Given the description of an element on the screen output the (x, y) to click on. 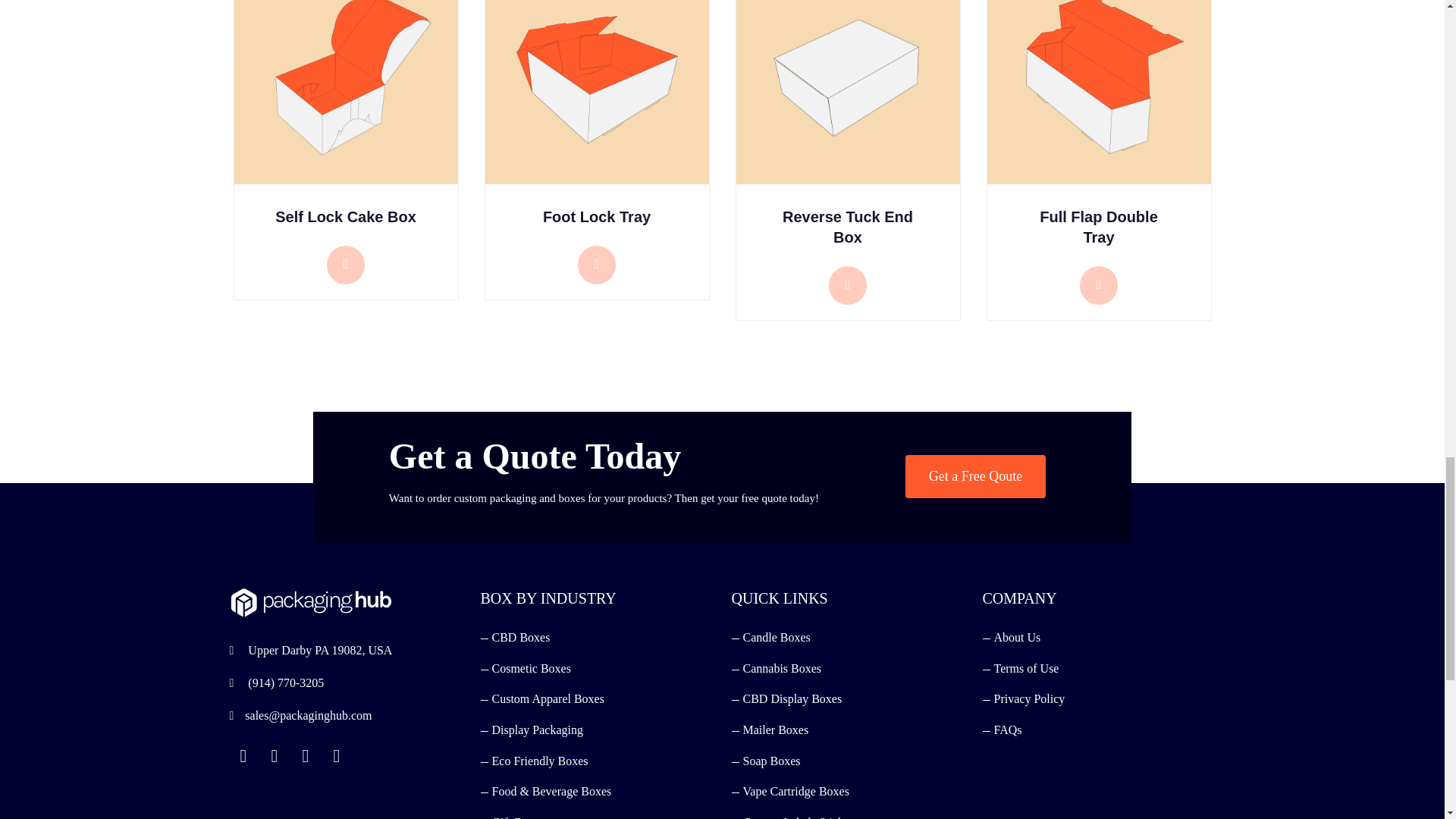
Foot Lock Tray (596, 174)
Full Flap Double Tray (1099, 184)
Packaging Hub (309, 608)
Self Lock Cake Box (344, 174)
Reverse Tuck End Box (847, 184)
Get a Free Qoute (975, 476)
